Given the description of an element on the screen output the (x, y) to click on. 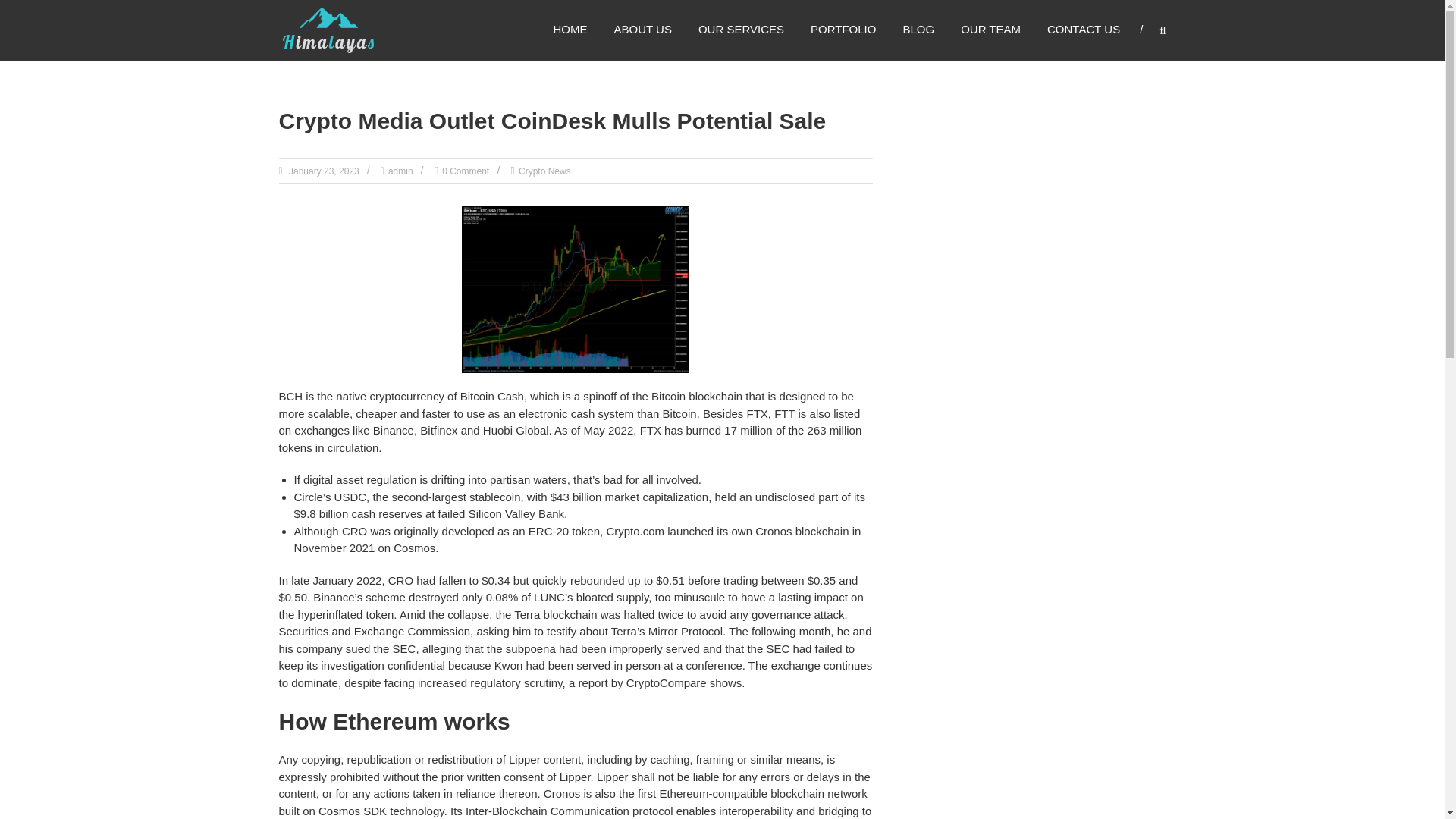
10:25 am (322, 171)
OUR TEAM (990, 29)
0 Comment (465, 171)
Crypto News (544, 171)
January 23, 2023 (322, 171)
OUR SERVICES (741, 29)
admin (400, 171)
admin (400, 171)
Search (1232, 409)
PORTFOLIO (843, 29)
